Given the description of an element on the screen output the (x, y) to click on. 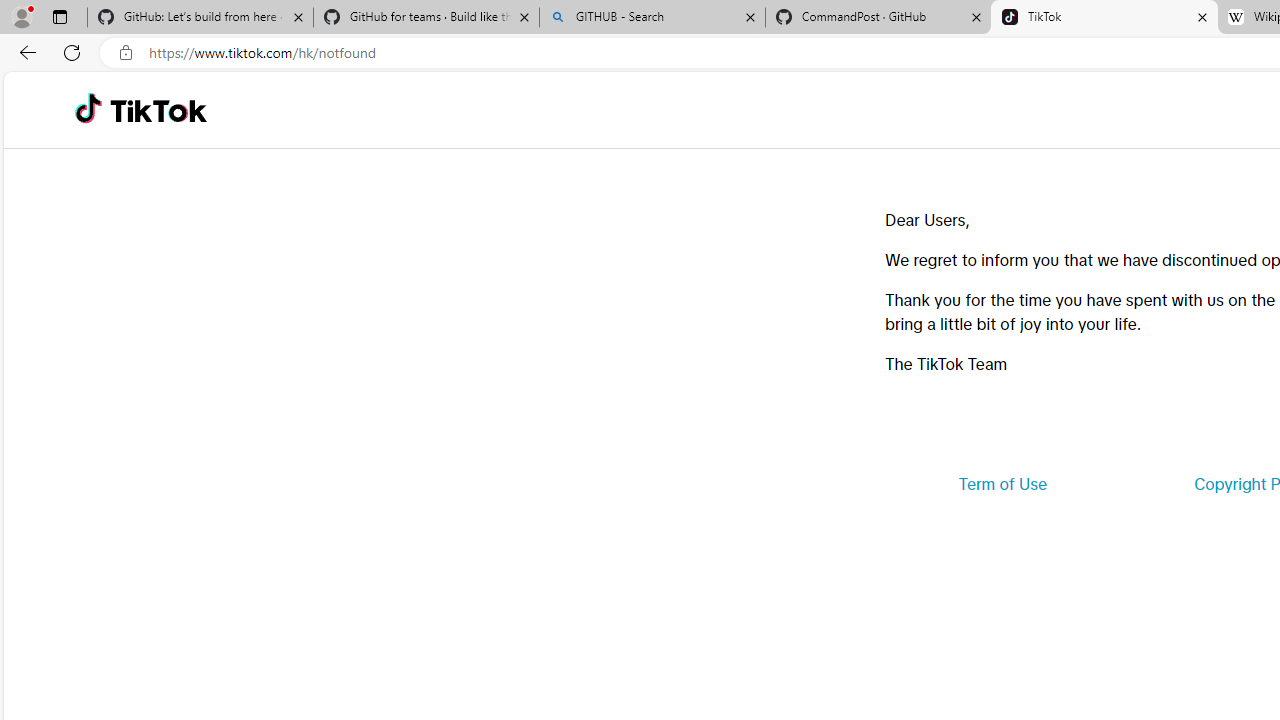
TikTok (1104, 17)
TikTok (158, 110)
GITHUB - Search (652, 17)
Term of Use (1002, 484)
